Given the description of an element on the screen output the (x, y) to click on. 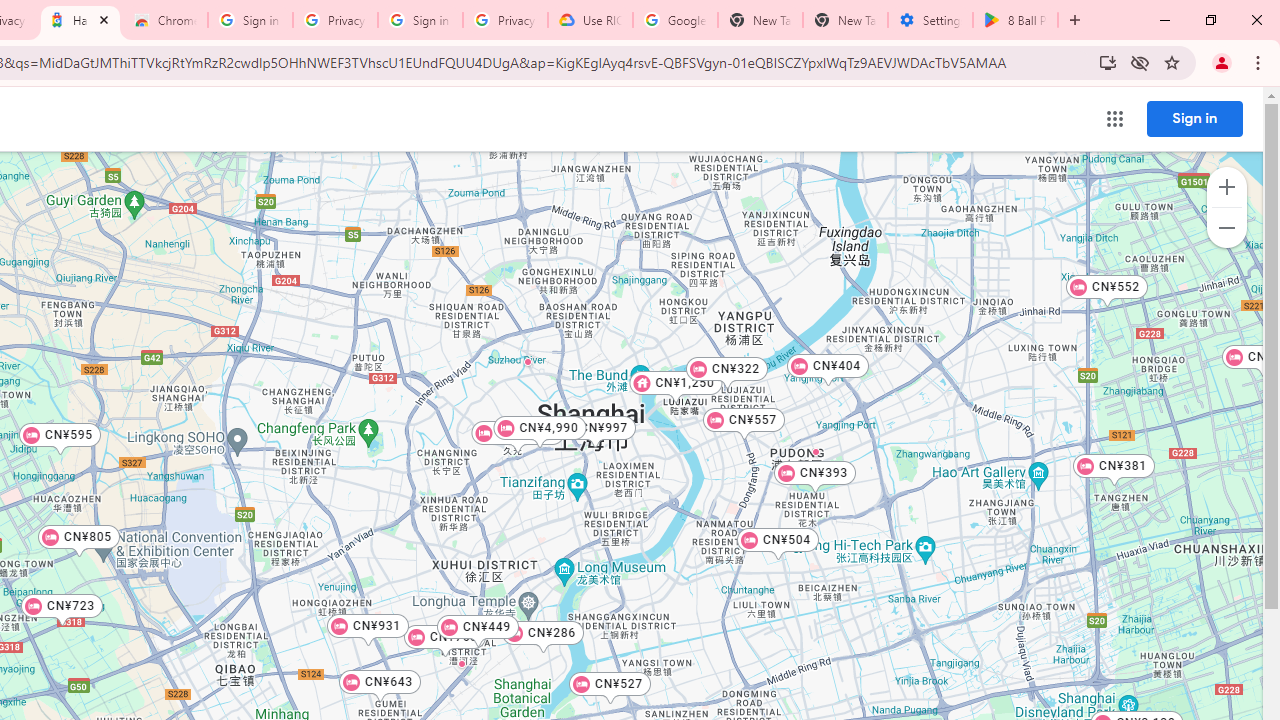
Sign in - Google Accounts (250, 20)
Parkline Century Park Hotel Shanghai (815, 451)
Zoom out map (1226, 227)
8 Ball Pool - Apps on Google Play (1015, 20)
Vienna International Hotel (527, 361)
